Given the description of an element on the screen output the (x, y) to click on. 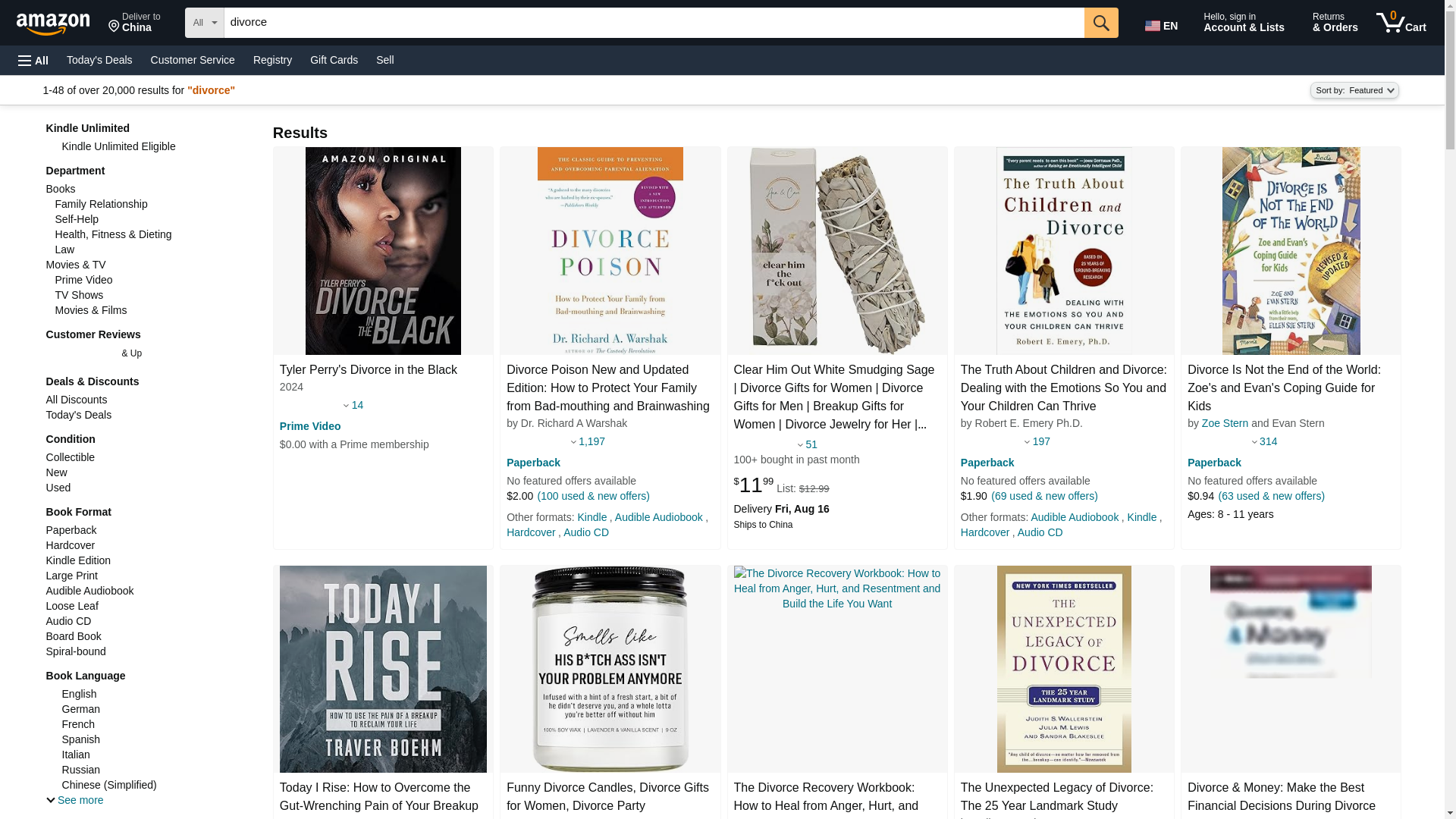
Sell (384, 59)
Go (1101, 22)
Prime Video (309, 426)
Hardcover (531, 532)
Paperback (533, 462)
divorce (654, 22)
Gift Cards (333, 59)
51 (810, 444)
Customer Service (192, 59)
Audible Audiobook (658, 517)
Registry (272, 59)
Tyler Perry's Divorce in the Black (368, 370)
1,197 (591, 441)
Audio CD (585, 532)
